Given the description of an element on the screen output the (x, y) to click on. 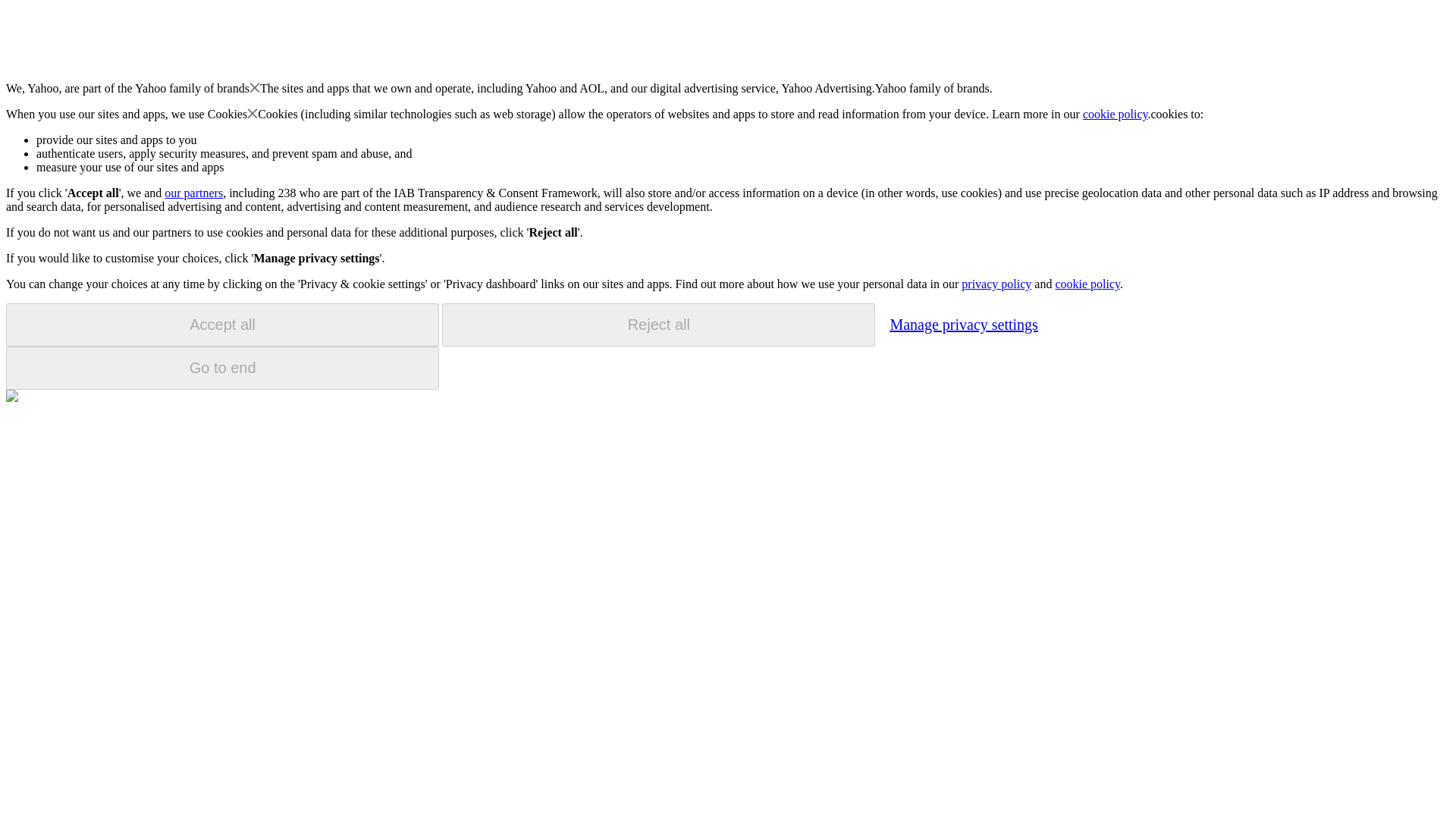
our partners (193, 192)
Accept all (222, 324)
privacy policy (995, 283)
cookie policy (1115, 113)
Go to end (222, 367)
cookie policy (1086, 283)
Reject all (658, 324)
Manage privacy settings (963, 323)
